Given the description of an element on the screen output the (x, y) to click on. 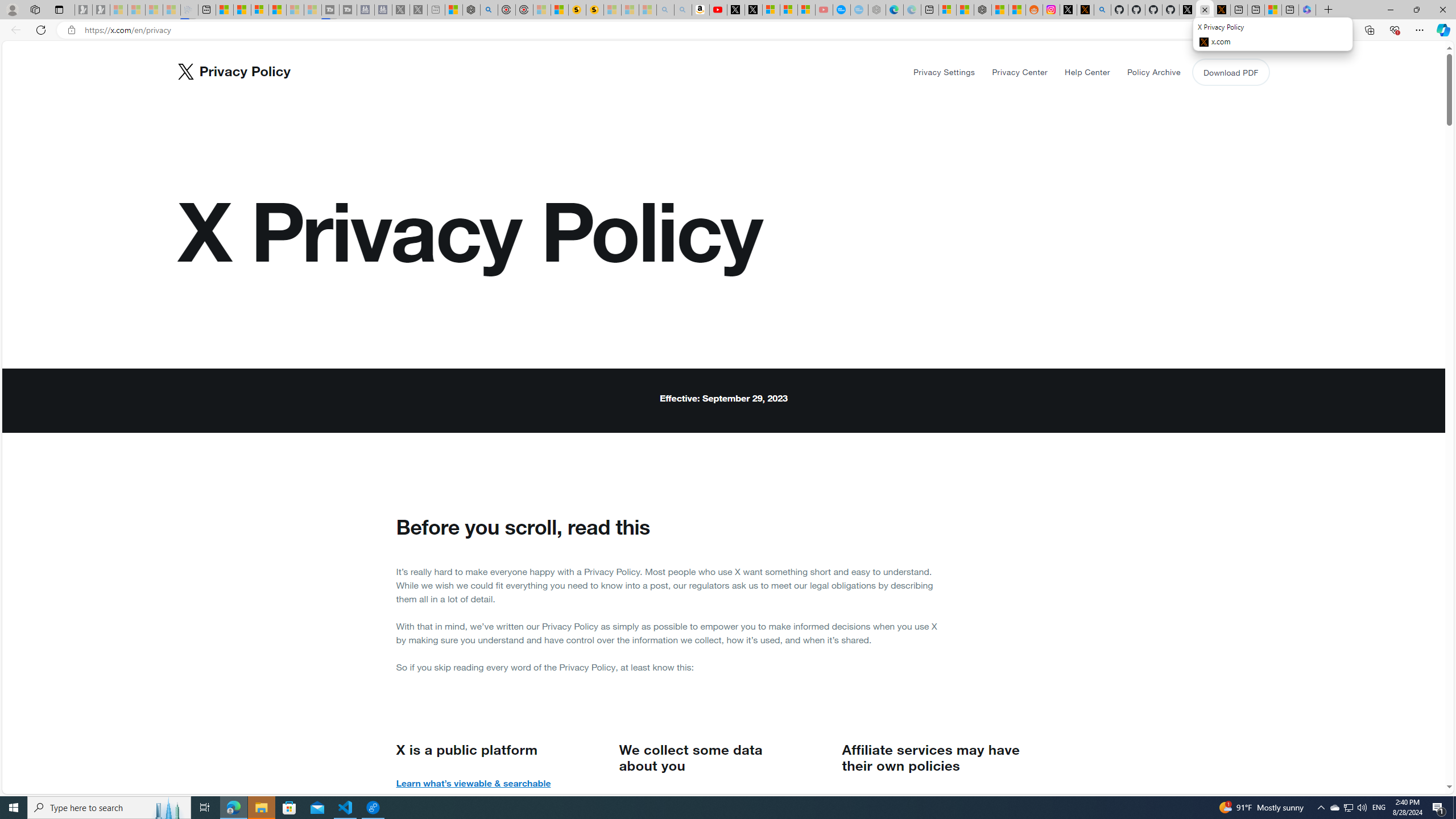
Help Center (1086, 71)
Overview (259, 9)
amazon - Search - Sleeping (665, 9)
Help Center (1087, 72)
Enter Immersive Reader (F9) (1291, 29)
Microsoft Start - Sleeping (294, 9)
Privacy Center (1020, 72)
